Given the description of an element on the screen output the (x, y) to click on. 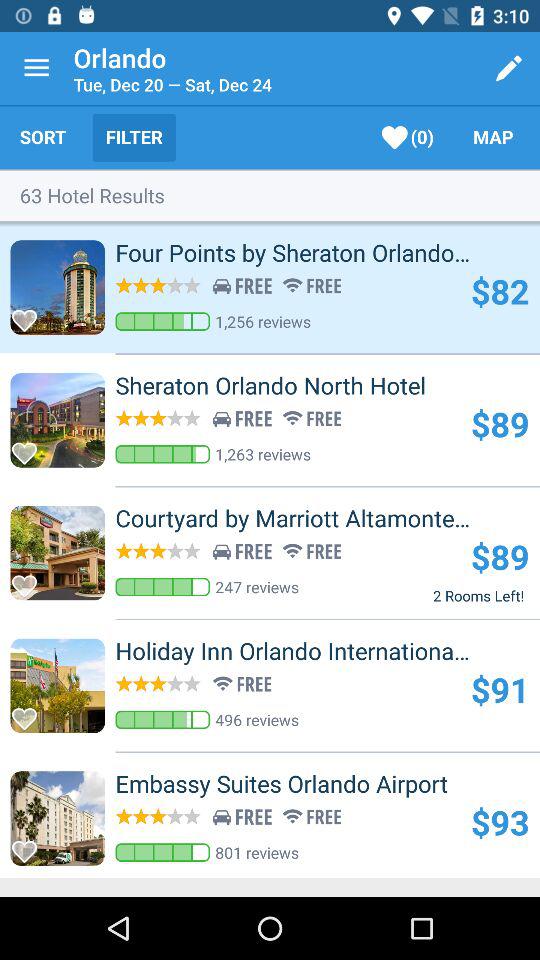
press item to the left of orlando item (36, 68)
